Given the description of an element on the screen output the (x, y) to click on. 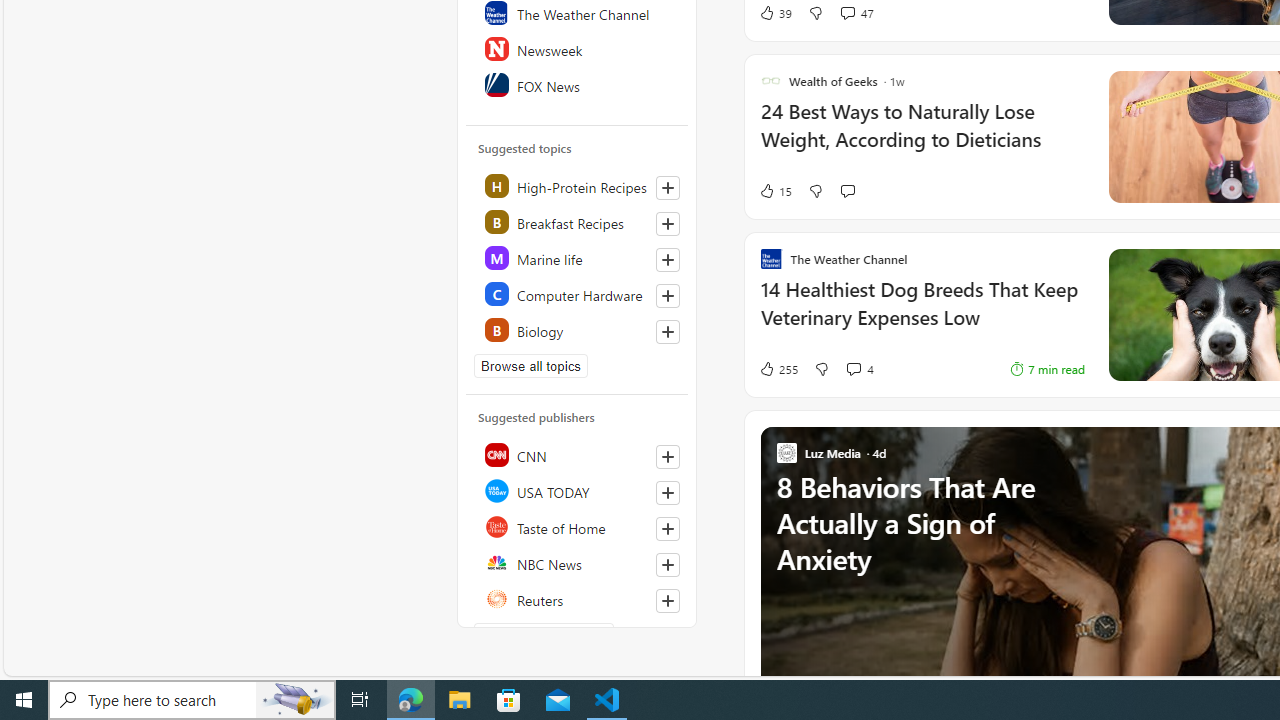
FOX News (578, 84)
NBC News (578, 562)
Follow this topic (667, 331)
15 Like (775, 191)
Newsweek (578, 48)
Browse all topics (530, 366)
Follow this source (667, 600)
Browse all publishers (543, 634)
View comments 47 Comment (855, 12)
Class: highlight (578, 329)
USA TODAY (578, 490)
View comments 4 Comment (859, 368)
View comments 4 Comment (852, 368)
